Given the description of an element on the screen output the (x, y) to click on. 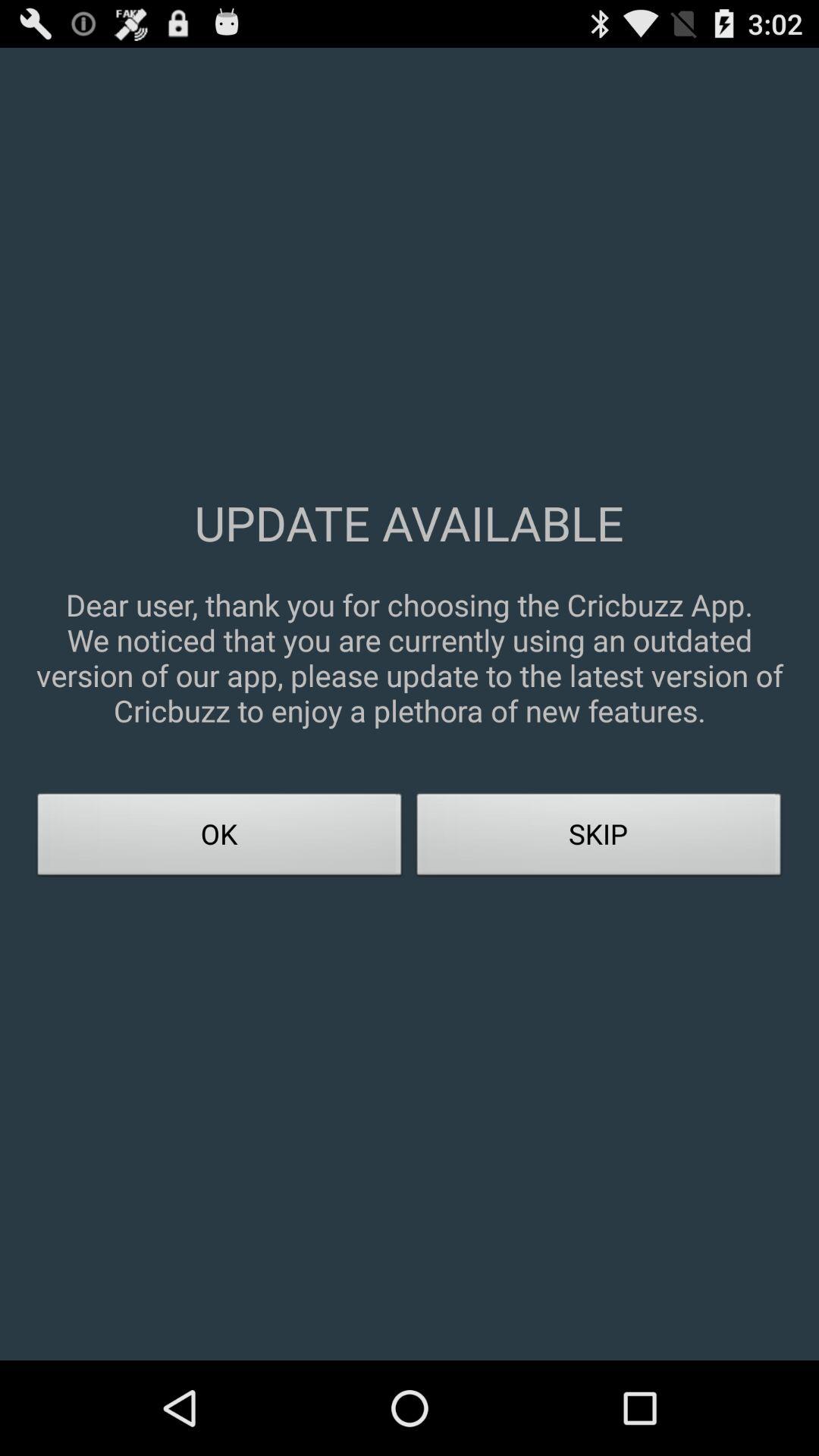
turn off the item to the right of ok (598, 838)
